Given the description of an element on the screen output the (x, y) to click on. 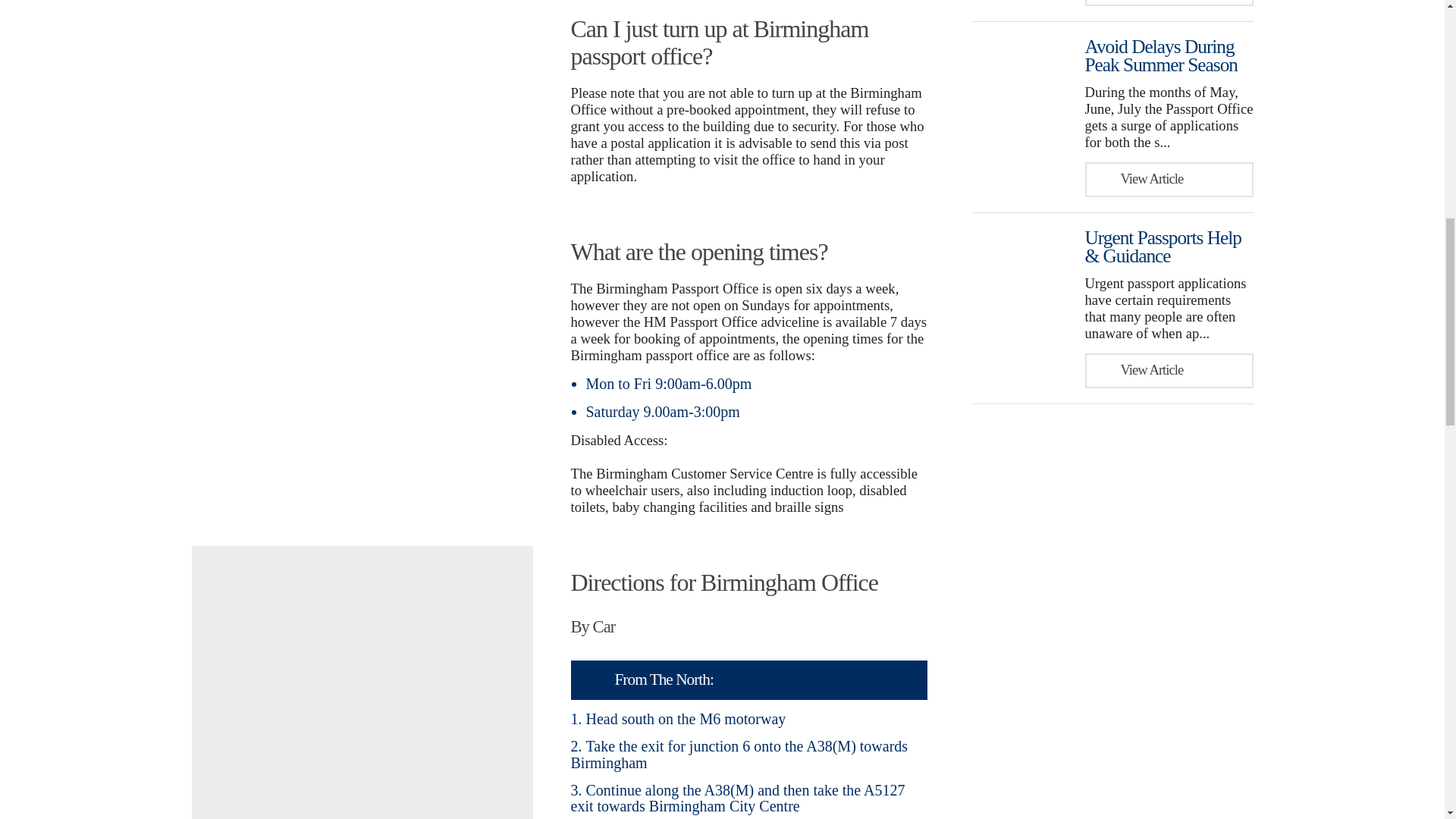
Avoid Delays During Peak Summer Season (1160, 55)
Avoid Delays During Peak Summer Season (1160, 55)
